Given the description of an element on the screen output the (x, y) to click on. 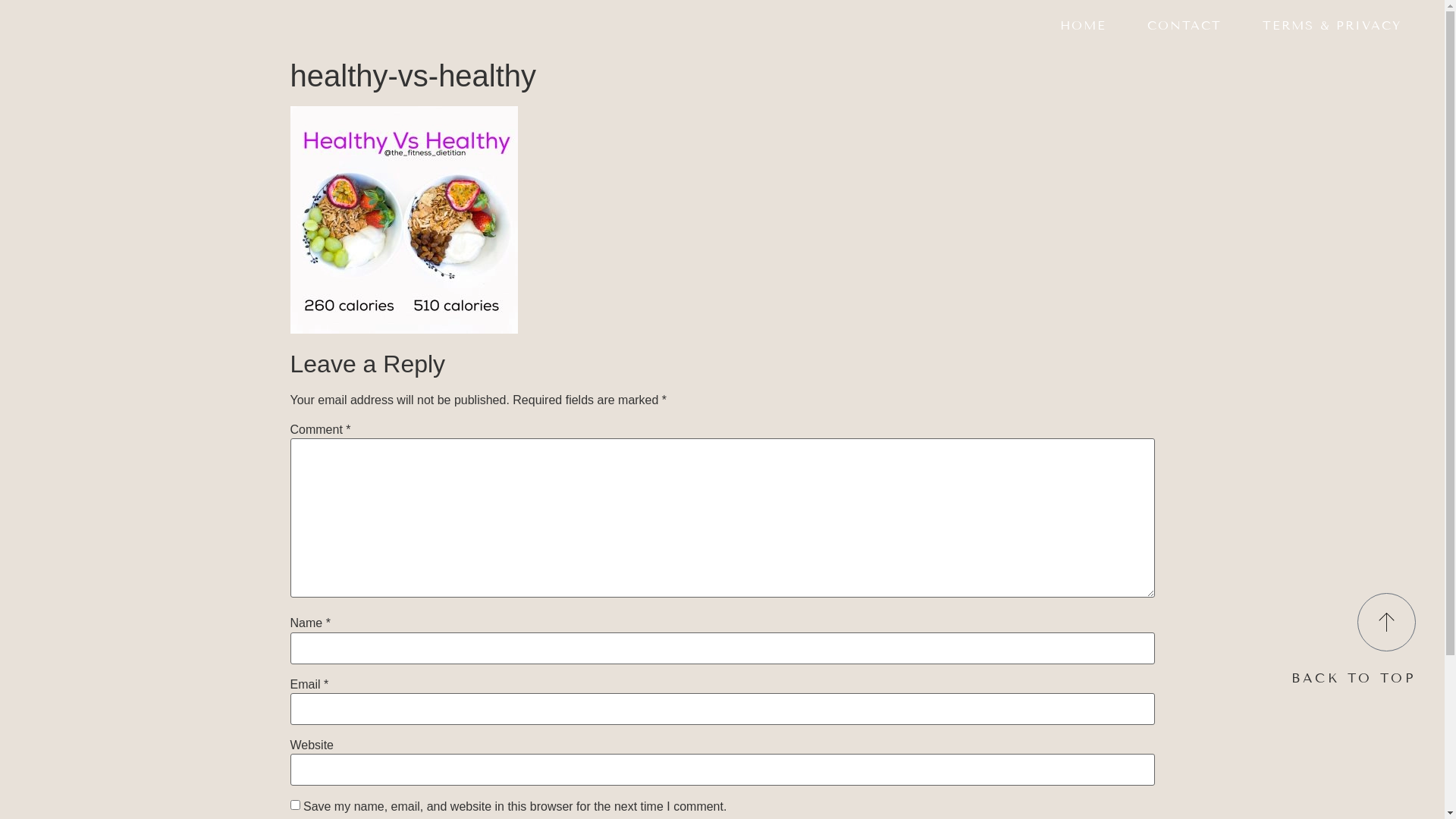
CONTACT Element type: text (1184, 25)
BACK TO TOP Element type: text (1353, 678)
TERMS & PRIVACY Element type: text (1331, 25)
HOME Element type: text (1083, 25)
